Given the description of an element on the screen output the (x, y) to click on. 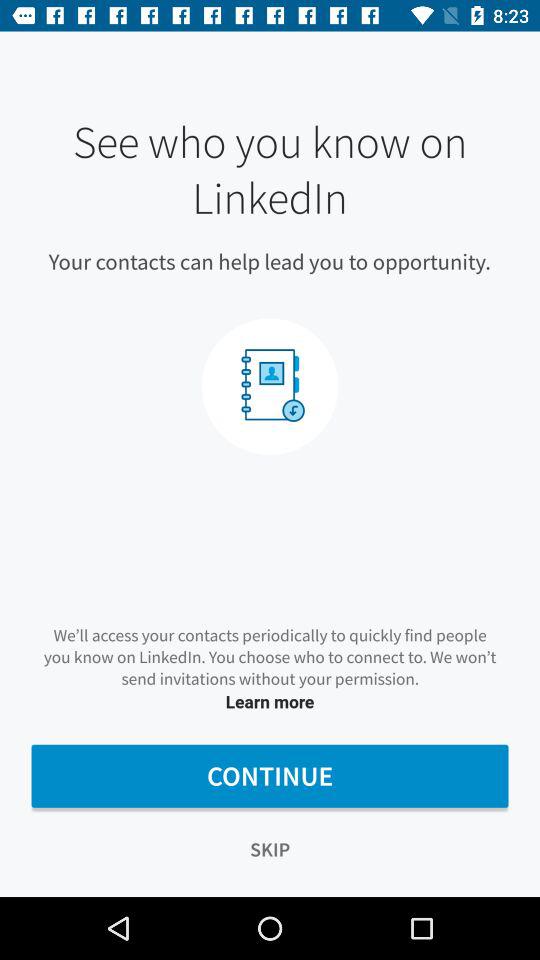
click the item below continue icon (269, 849)
